Given the description of an element on the screen output the (x, y) to click on. 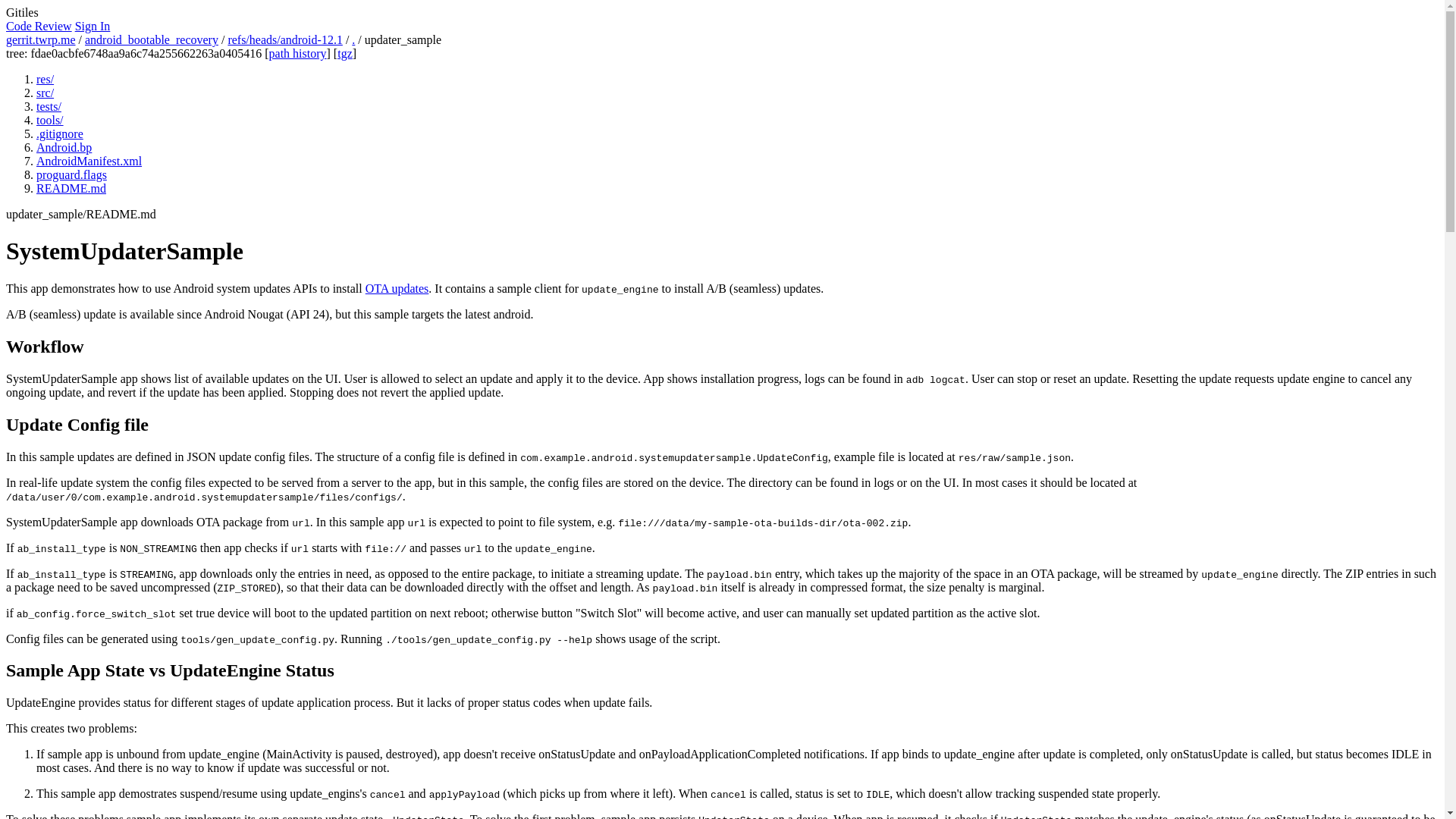
.gitignore (59, 133)
proguard.flags (71, 174)
tgz (344, 52)
Android.bp (63, 146)
OTA updates (397, 287)
AndroidManifest.xml (88, 160)
Code Review (38, 25)
Sign In (92, 25)
gerrit.twrp.me (40, 39)
README.md (71, 187)
